Given the description of an element on the screen output the (x, y) to click on. 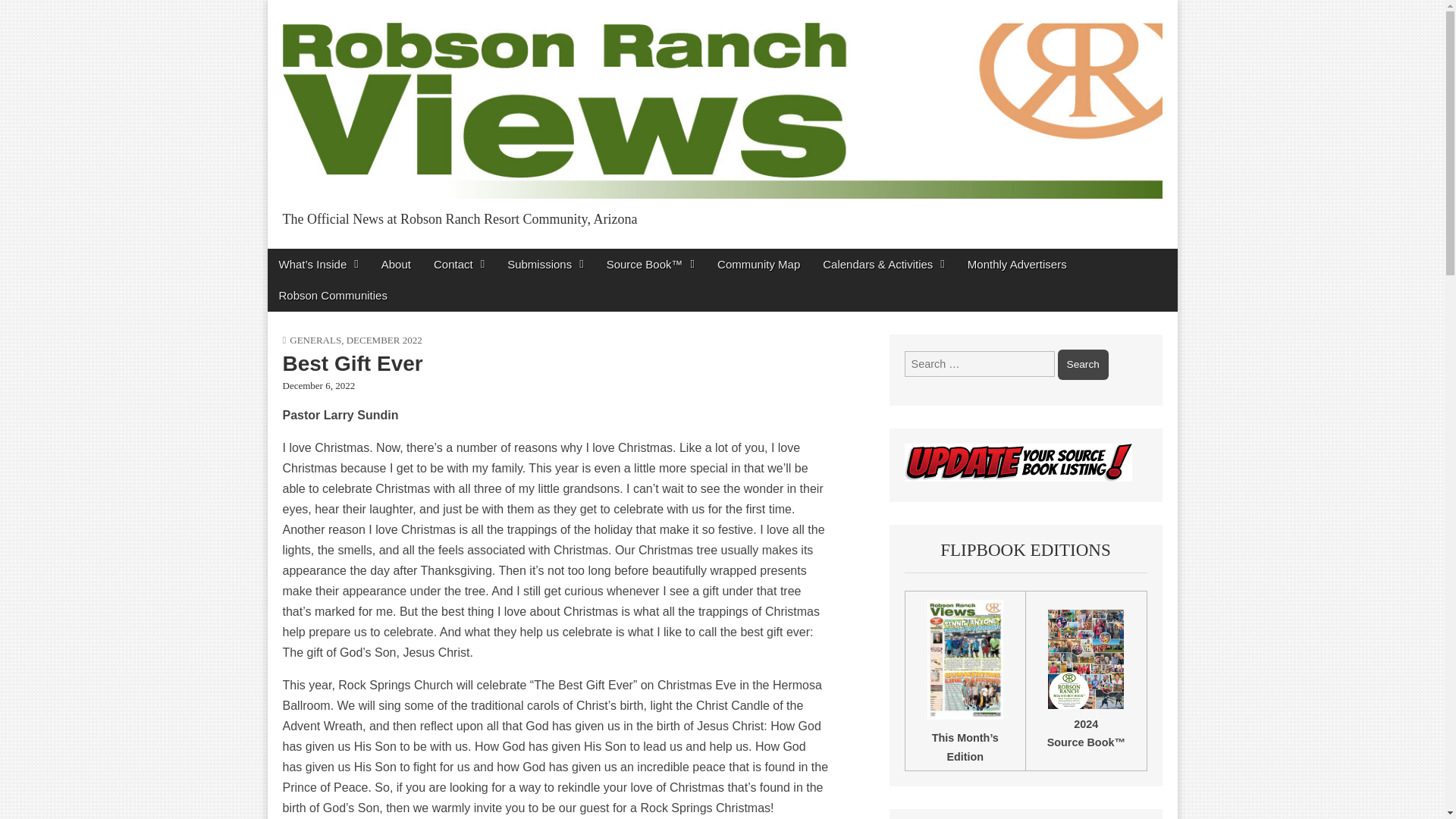
Contact (459, 264)
Robson Ranch Views (438, 252)
DECEMBER 2022 (384, 339)
Search (1083, 364)
Monthly Advertisers (1017, 264)
Submissions (545, 264)
GENERALS (314, 339)
Robson Ranch Views (438, 252)
Robson Communities (331, 295)
About (395, 264)
Search (1083, 364)
Community Map (758, 264)
